Given the description of an element on the screen output the (x, y) to click on. 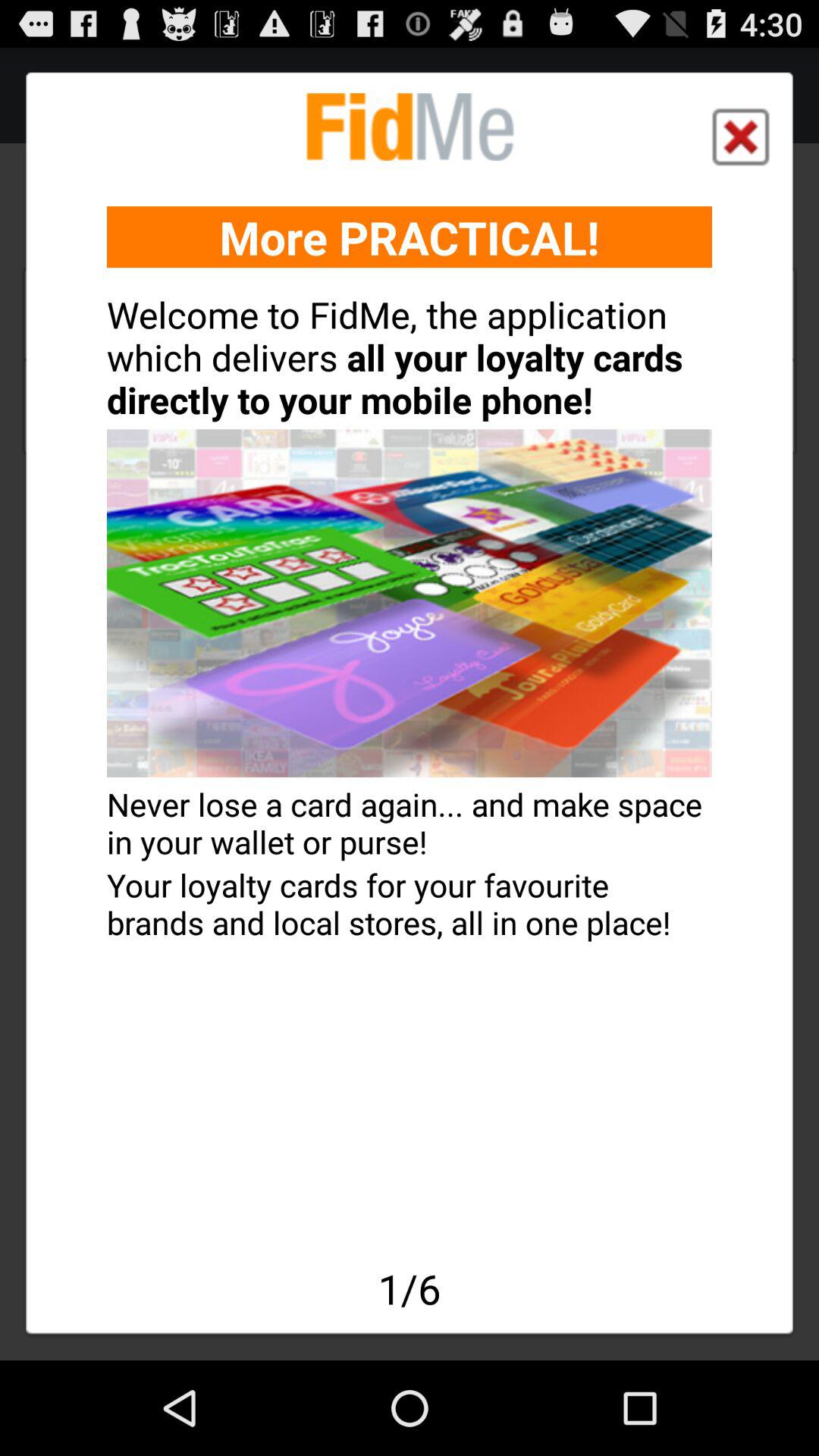
launch item above more practical! item (740, 137)
